Given the description of an element on the screen output the (x, y) to click on. 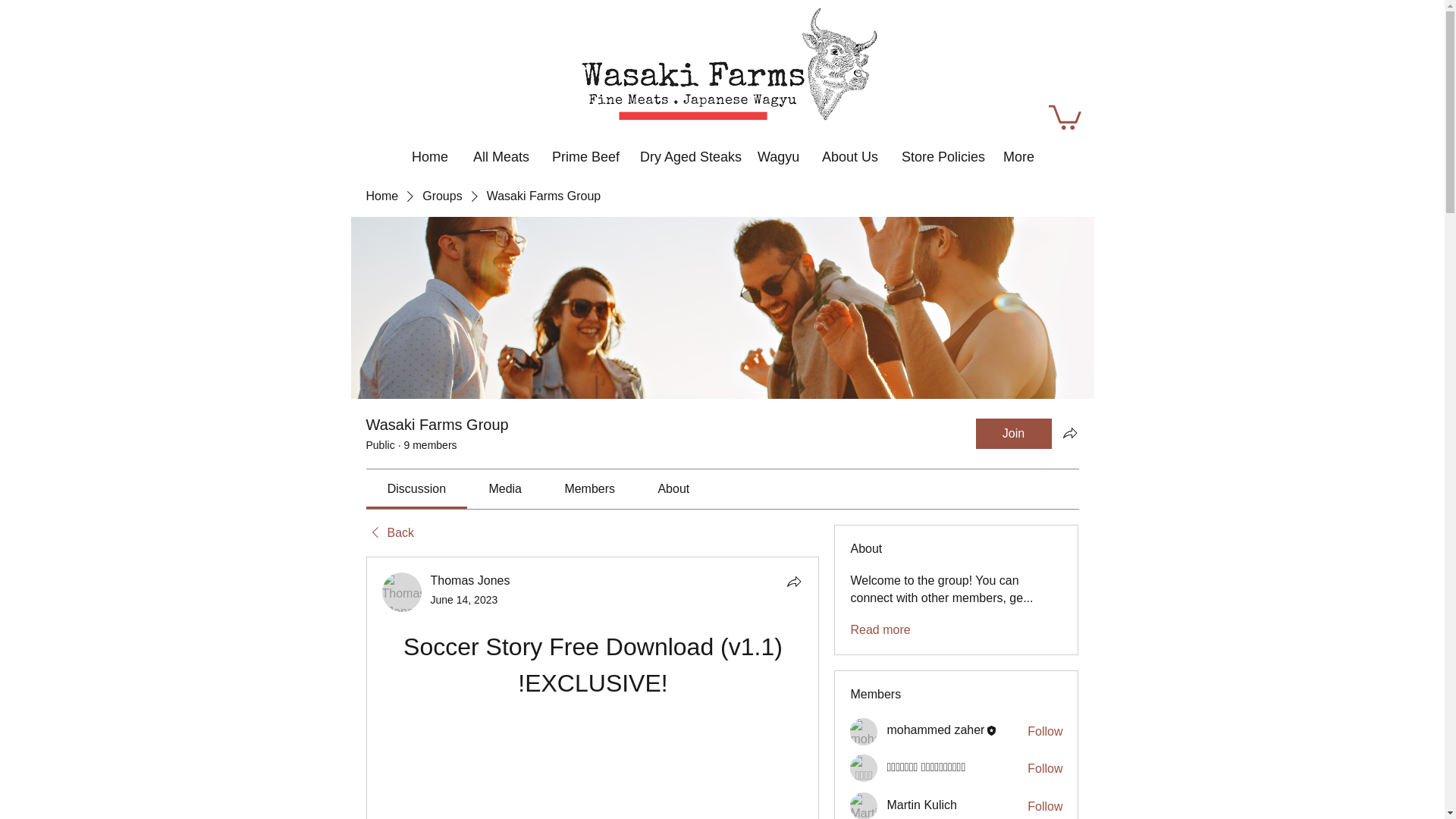
Martin Kulich (863, 805)
Follow (1044, 768)
Store Policies (939, 149)
Wagyu (776, 149)
Join (1013, 433)
Prime Beef (582, 149)
Follow (1044, 806)
June 14, 2023 (463, 599)
Back (389, 532)
mohammed zaher (863, 731)
Dry Aged Steaks (685, 149)
Follow (1044, 731)
Home (428, 149)
Groups (441, 196)
All Meats (499, 149)
